Given the description of an element on the screen output the (x, y) to click on. 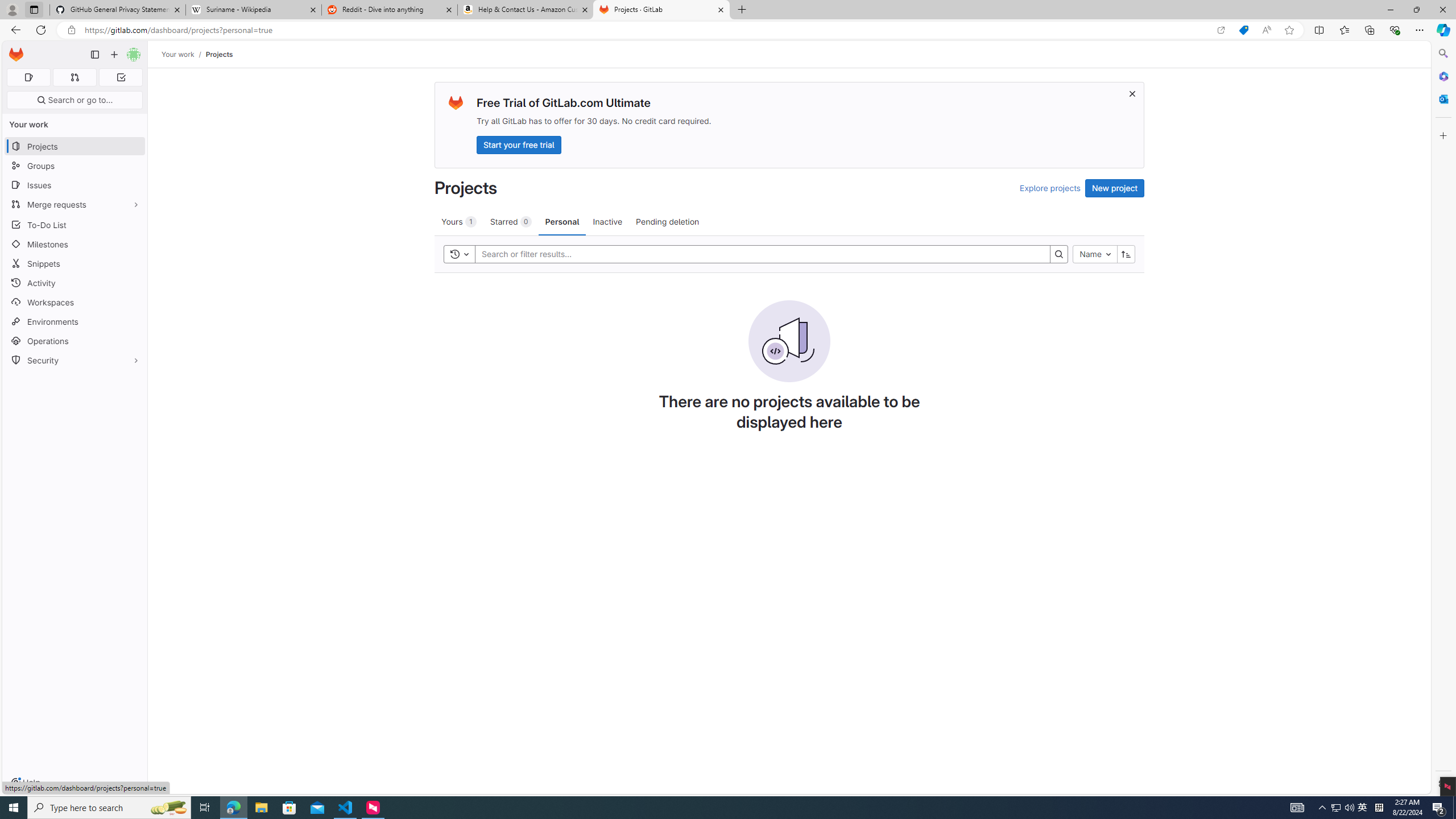
Snippets (74, 262)
To-Do list 0 (120, 76)
Environments (74, 321)
Merge requests (74, 203)
Security (74, 359)
Projects (218, 53)
Environments (74, 321)
Projects (218, 53)
Merge requests (74, 203)
Dismiss trial promotion (1131, 93)
